Given the description of an element on the screen output the (x, y) to click on. 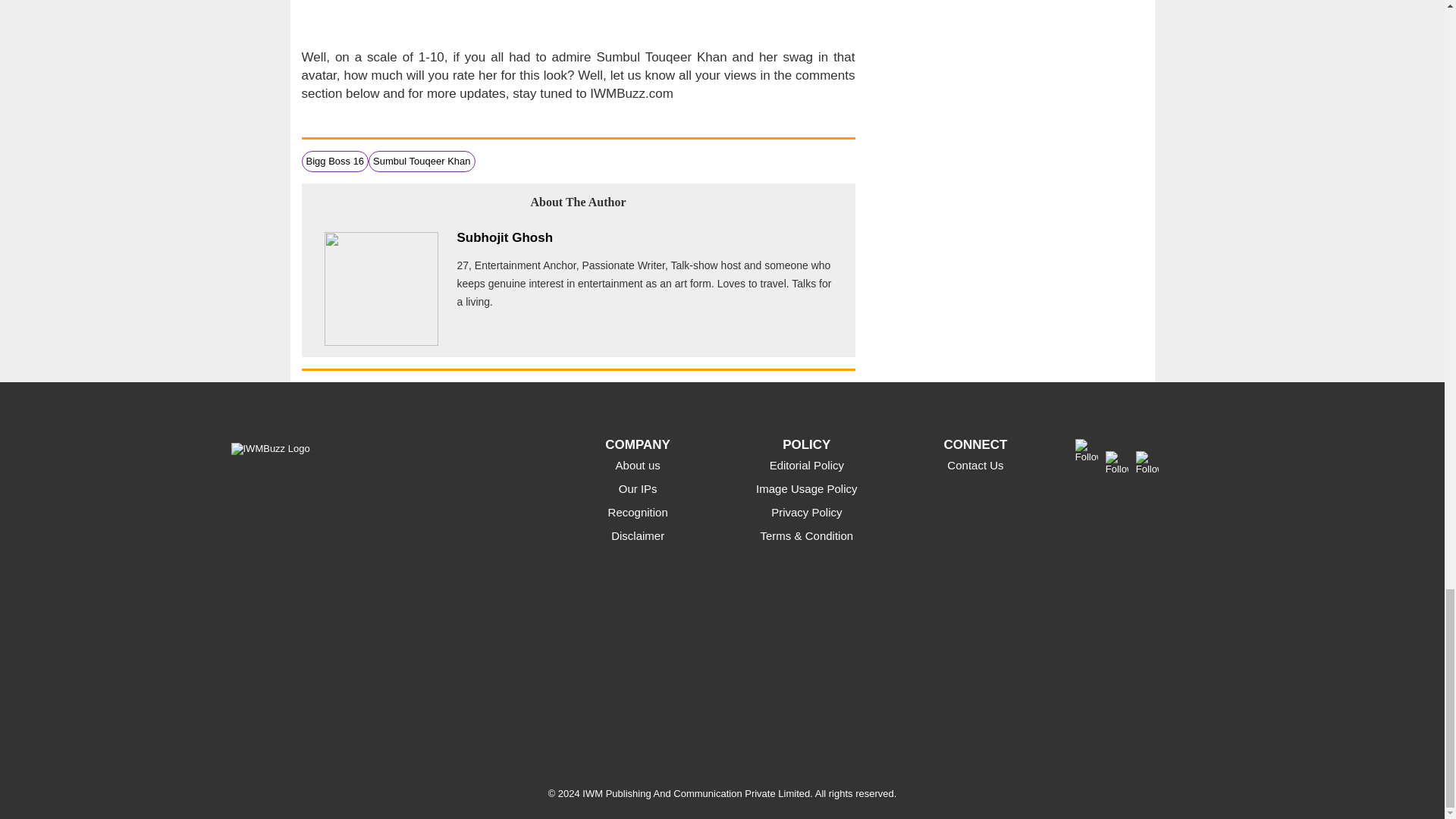
Subhojit Ghosh (505, 237)
Bigg Boss 16 (335, 161)
Sumbul Touqeer Khan (421, 161)
